Given the description of an element on the screen output the (x, y) to click on. 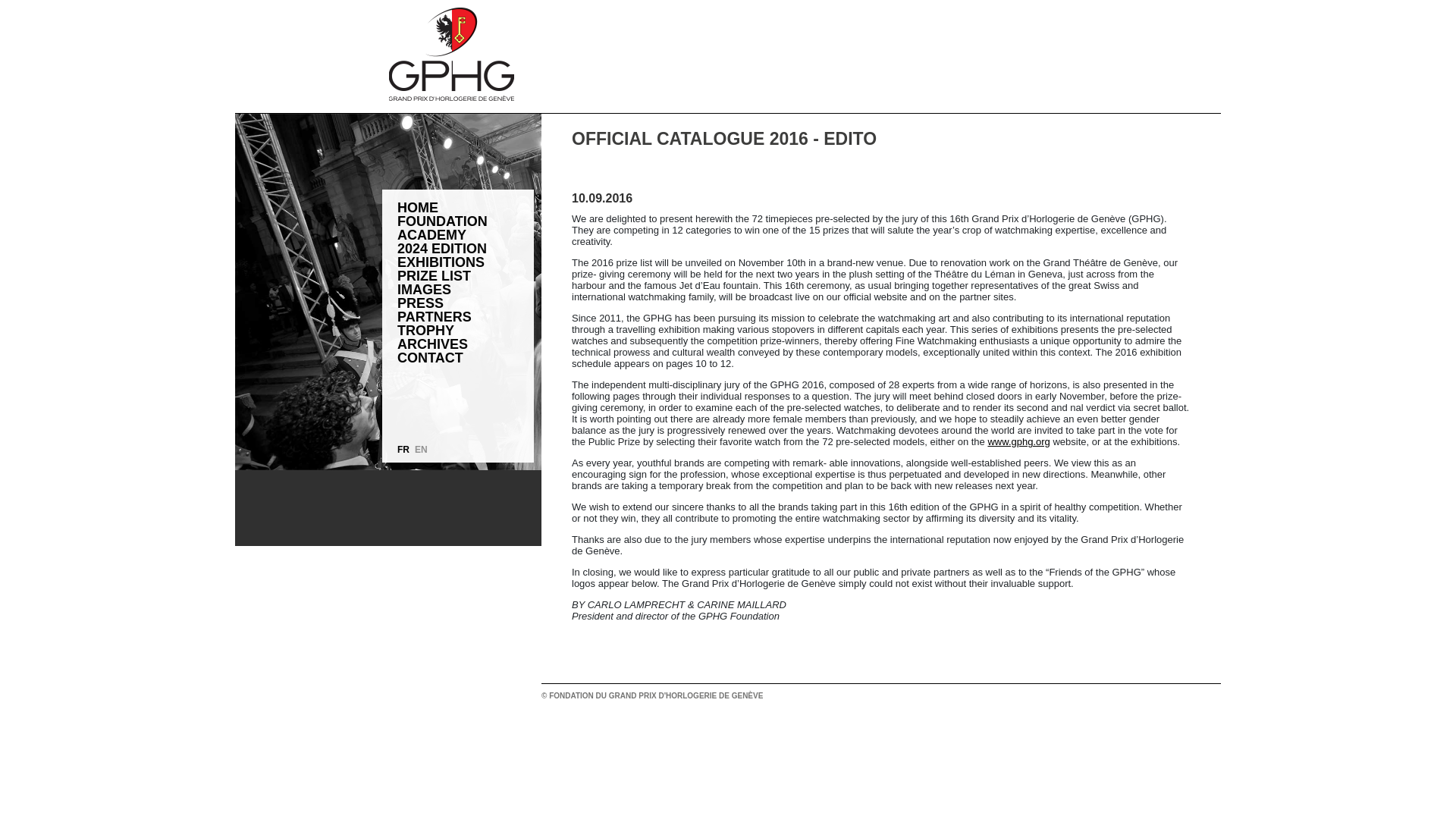
ACADEMY (465, 234)
ARCHIVES (465, 344)
FOUNDATION (465, 221)
PRIZE LIST (465, 275)
CONTACT (465, 357)
www.gphg.org (1018, 441)
EN (421, 449)
IMAGES (465, 289)
2024 EDITION (465, 248)
HOME (465, 207)
TROPHY (465, 330)
EXHIBITIONS (465, 262)
PRESS (465, 303)
FR (403, 449)
PARTNERS (465, 316)
